Given the description of an element on the screen output the (x, y) to click on. 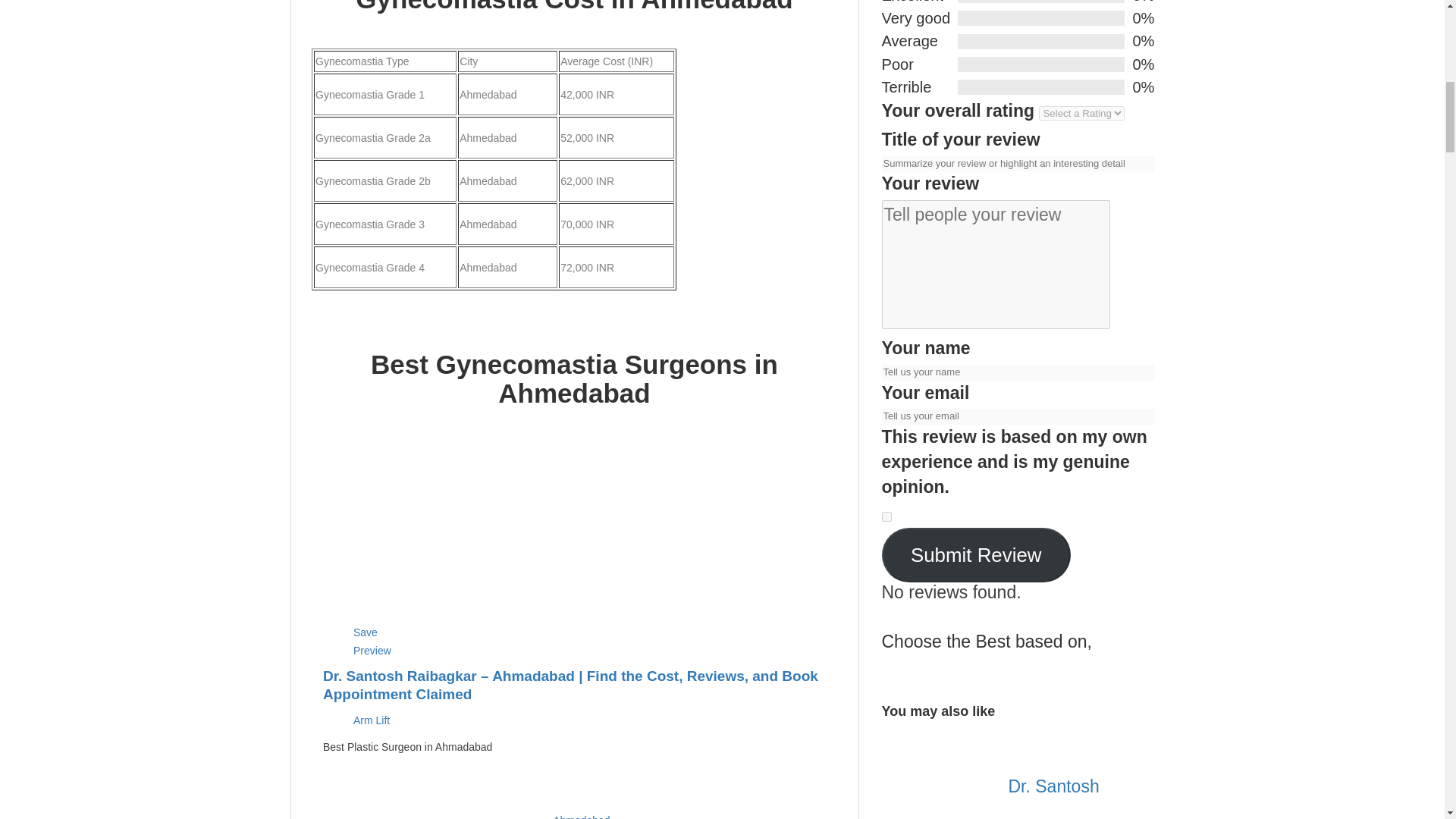
1 (885, 516)
